Given the description of an element on the screen output the (x, y) to click on. 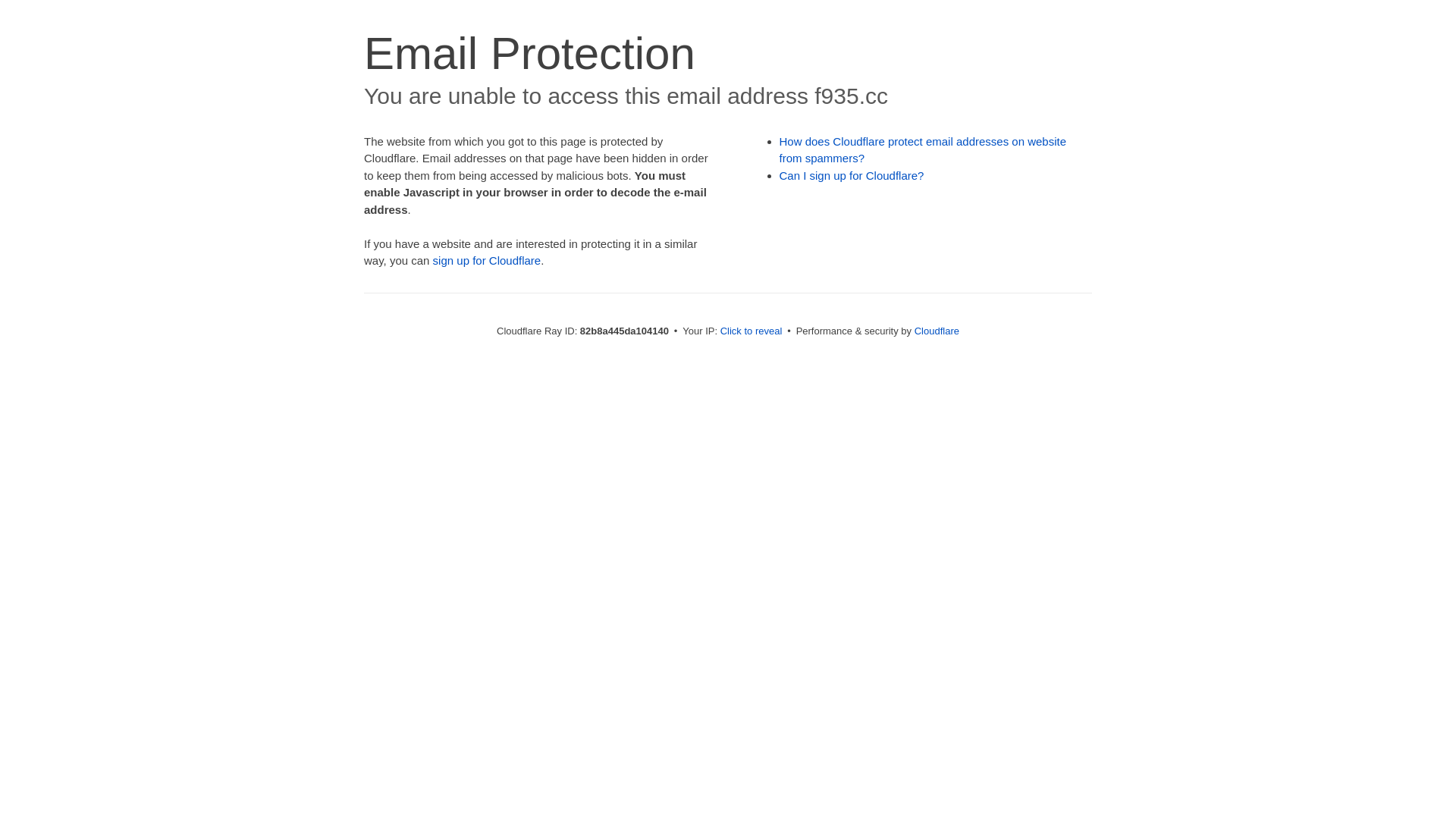
Cloudflare Element type: text (936, 330)
Can I sign up for Cloudflare? Element type: text (851, 175)
Click to reveal Element type: text (751, 330)
sign up for Cloudflare Element type: text (487, 260)
